Given the description of an element on the screen output the (x, y) to click on. 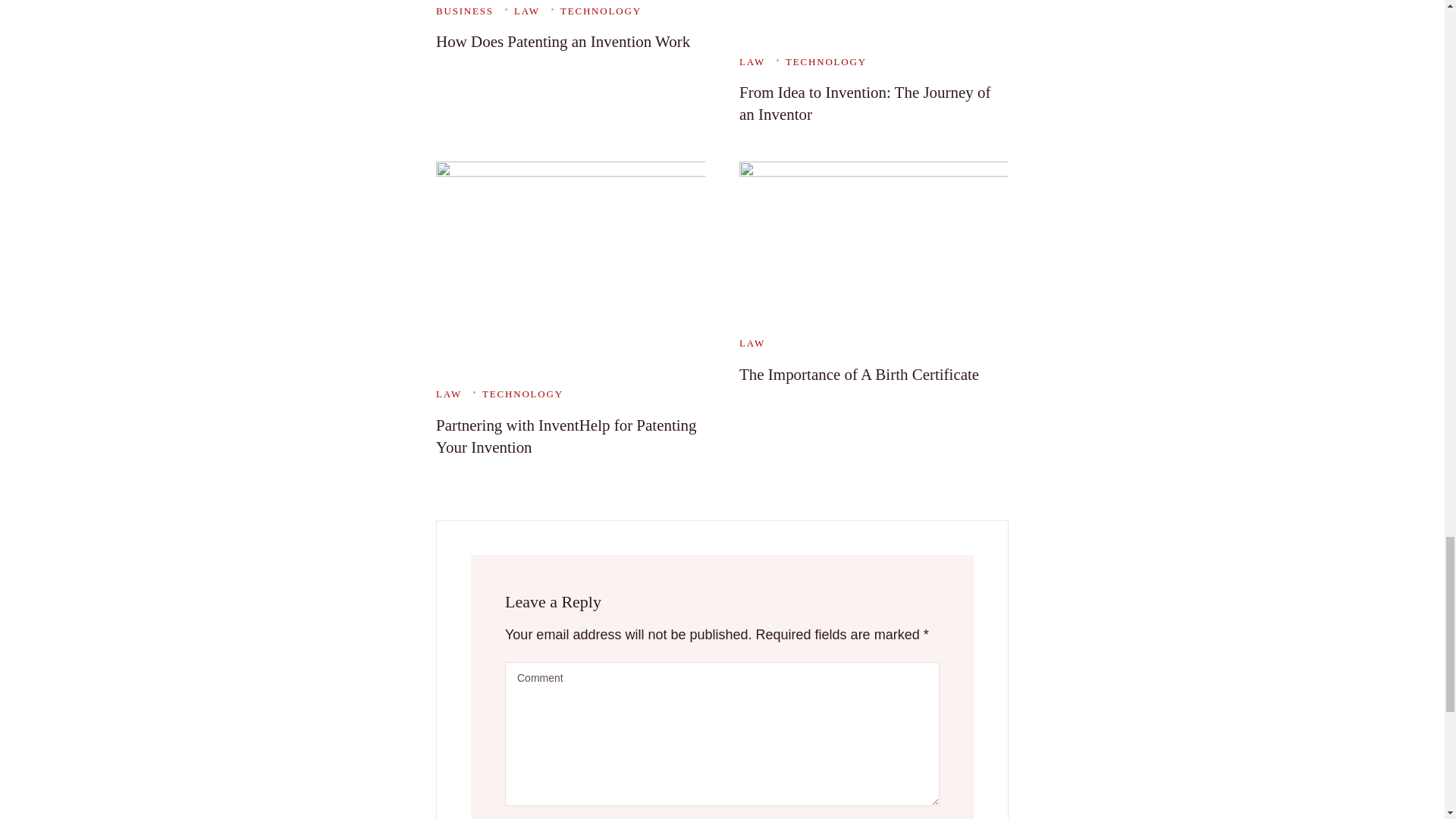
TECHNOLOGY (596, 9)
BUSINESS (464, 9)
How Does Patenting an Invention Work (562, 41)
LAW (522, 9)
